Given the description of an element on the screen output the (x, y) to click on. 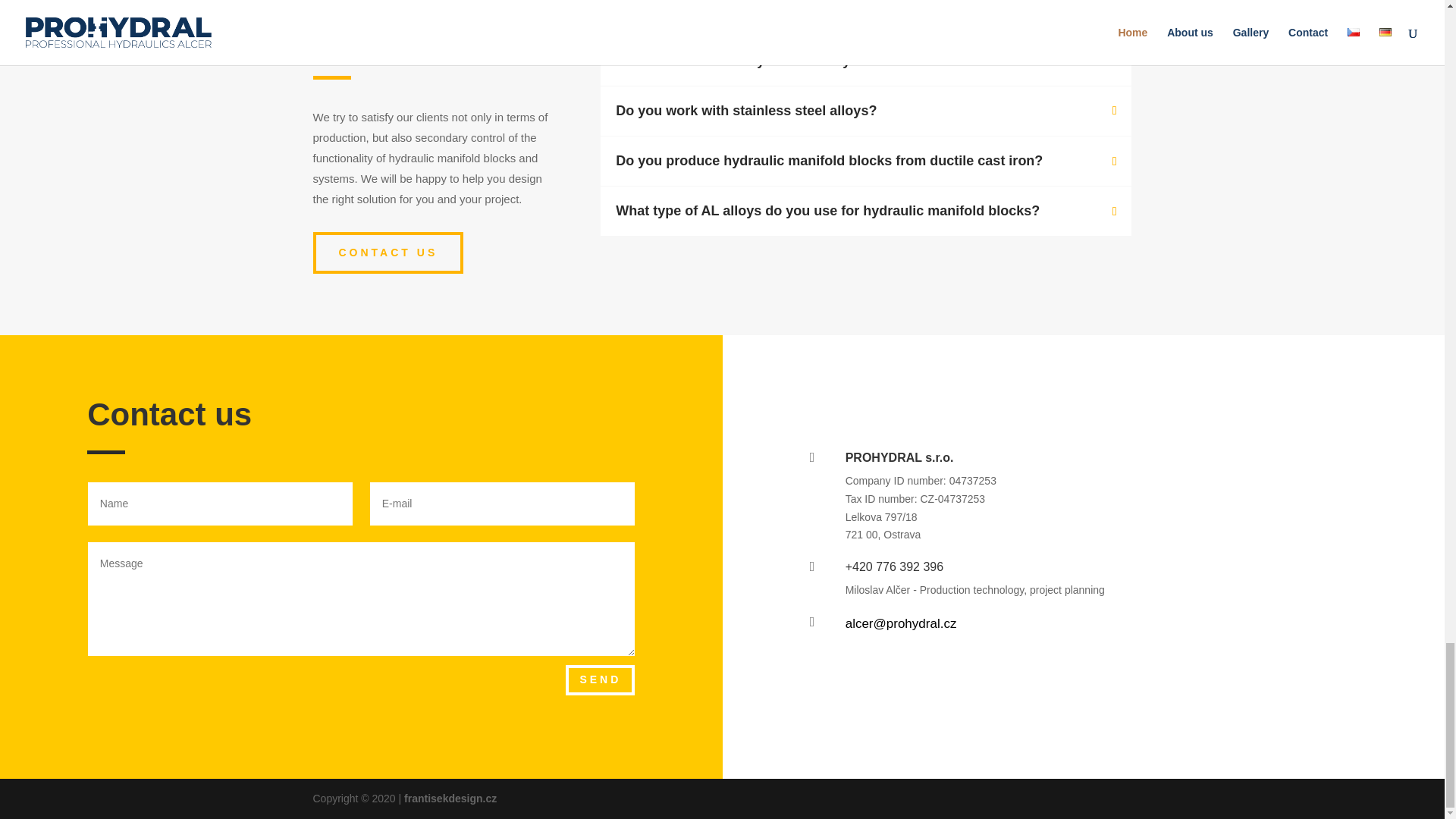
SEND (600, 679)
CONTACT US (388, 252)
frantisekdesign.cz (450, 798)
